Given the description of an element on the screen output the (x, y) to click on. 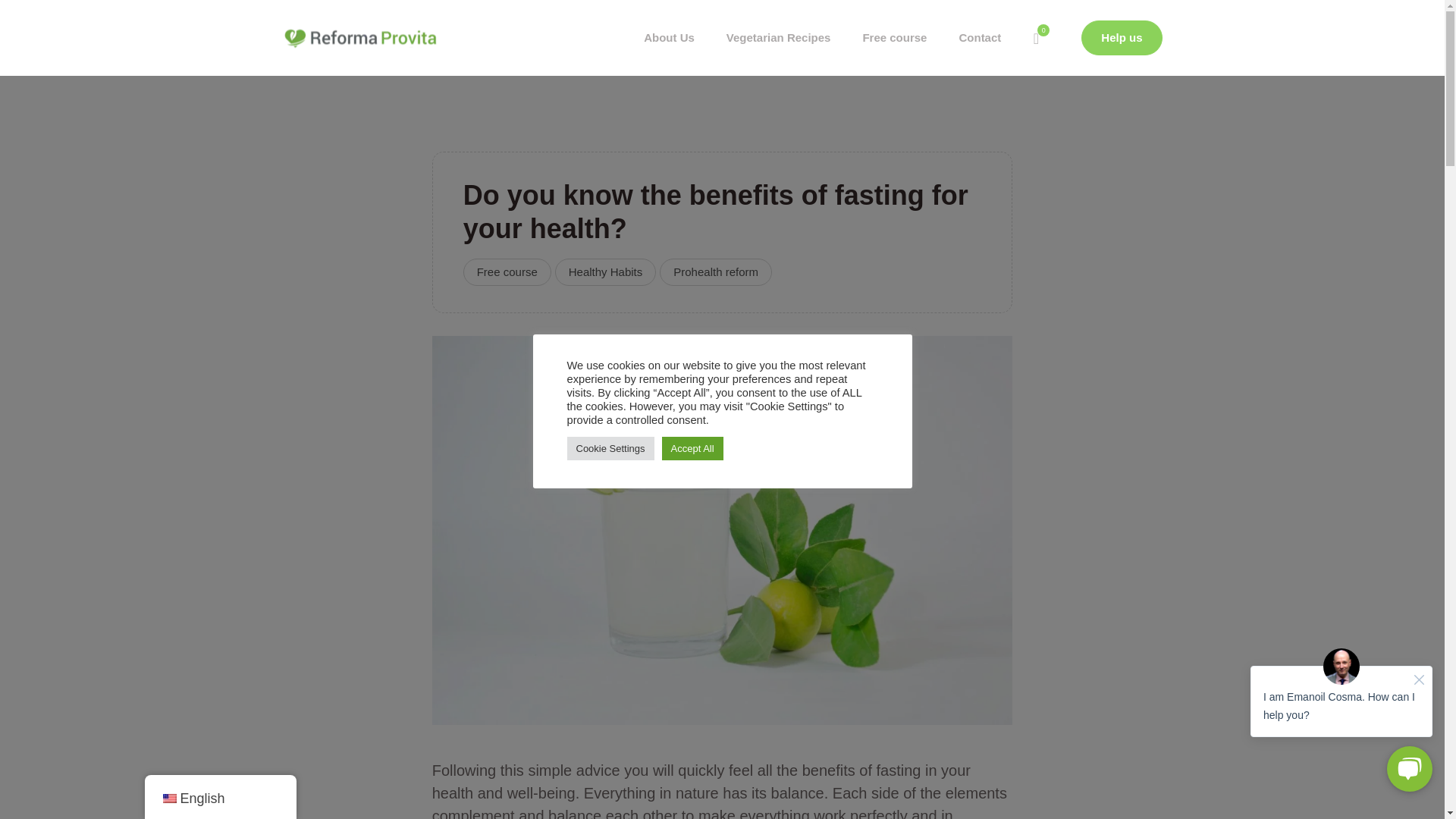
Free course (507, 271)
English (219, 798)
Free course (893, 37)
0 (1035, 37)
Accept All (692, 448)
Help us (1121, 37)
Prohealth reform (715, 271)
English (168, 798)
Cookie Settings (610, 448)
Do you know the benefits of fasting for your health? (722, 528)
Vegetarian Recipes (778, 37)
About Us (668, 37)
Healthy Habits (605, 271)
Contact (979, 37)
